Given the description of an element on the screen output the (x, y) to click on. 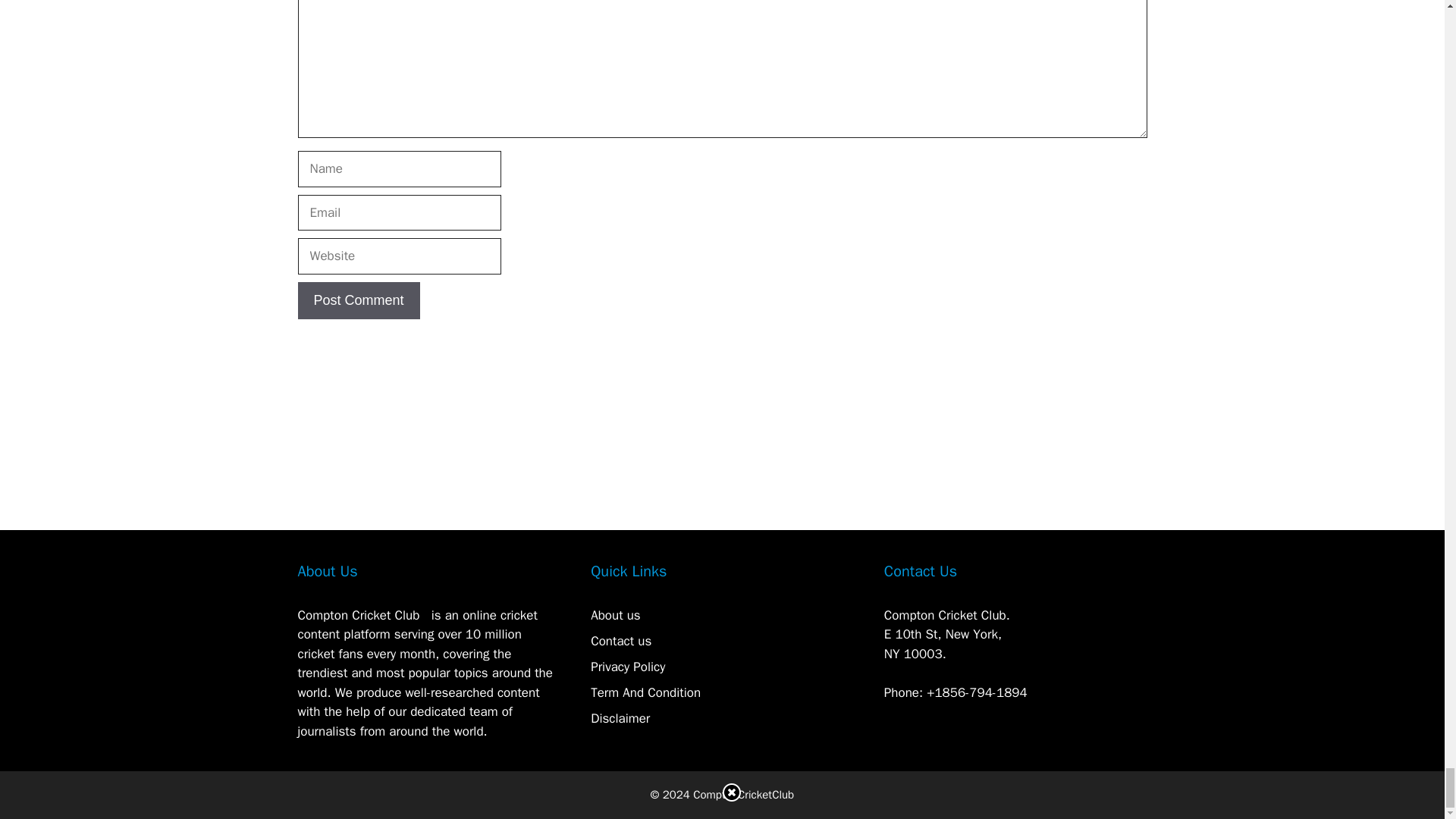
Post Comment (358, 300)
